Given the description of an element on the screen output the (x, y) to click on. 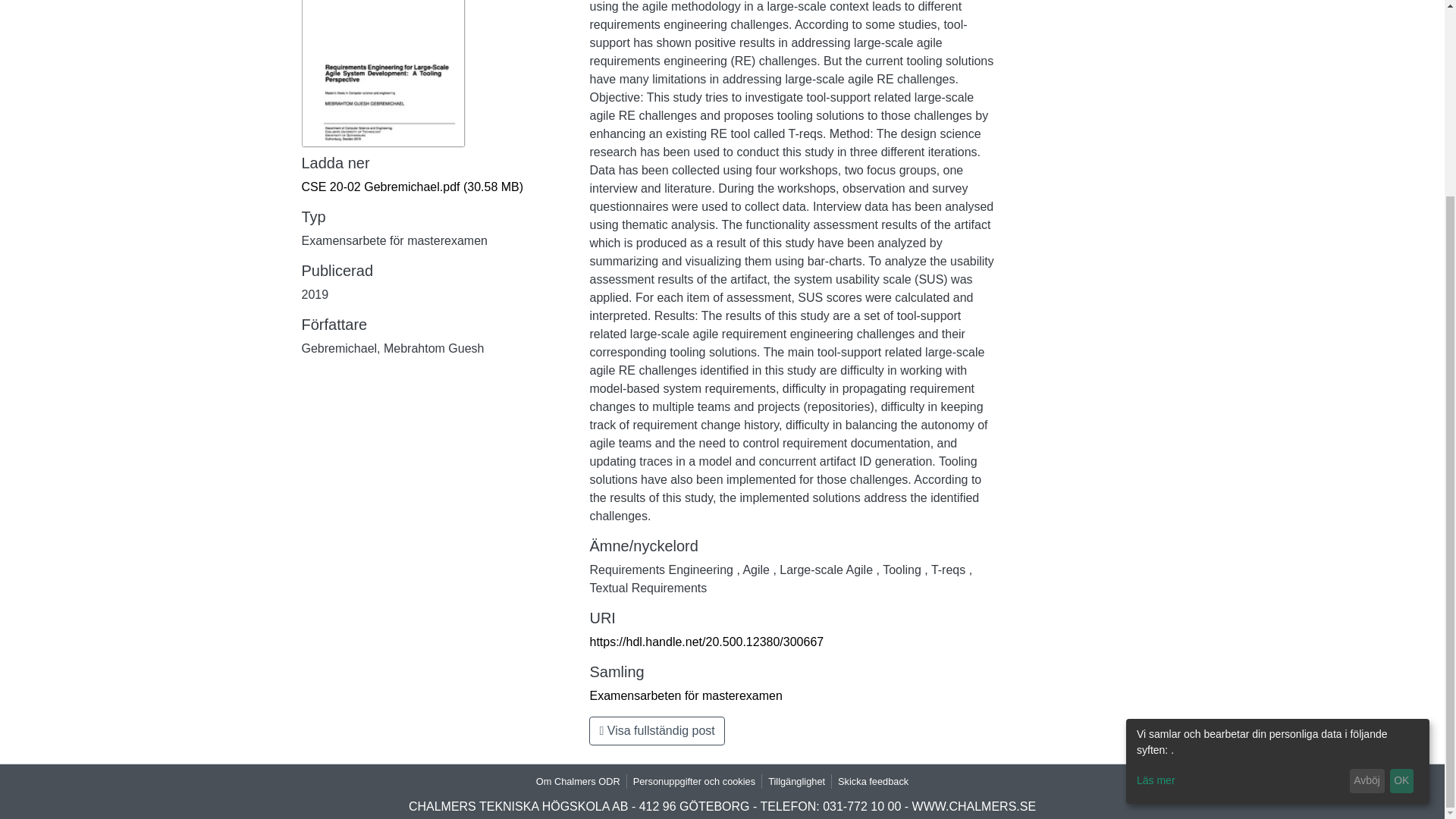
WWW.CHALMERS.SE (974, 806)
Om Chalmers ODR (577, 780)
Personuppgifter och cookies (694, 780)
Skicka feedback (872, 780)
OK (1401, 532)
